Given the description of an element on the screen output the (x, y) to click on. 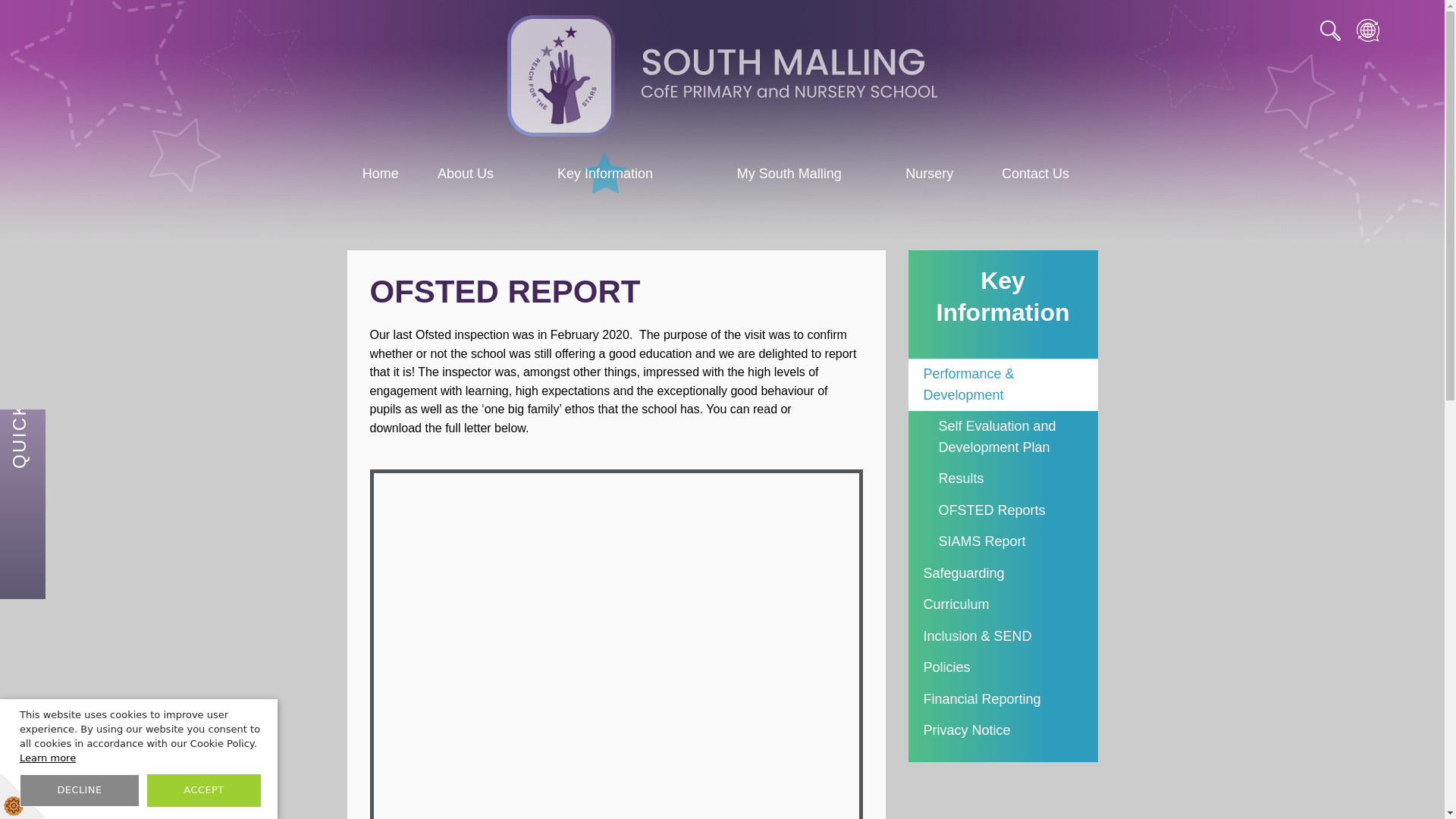
Choose Language (1367, 26)
Search (1330, 27)
Key Information (604, 173)
Search site (1330, 28)
Home (380, 173)
Search site (1330, 27)
South Malling CE Primary Logo (721, 75)
About Us (464, 173)
